Given the description of an element on the screen output the (x, y) to click on. 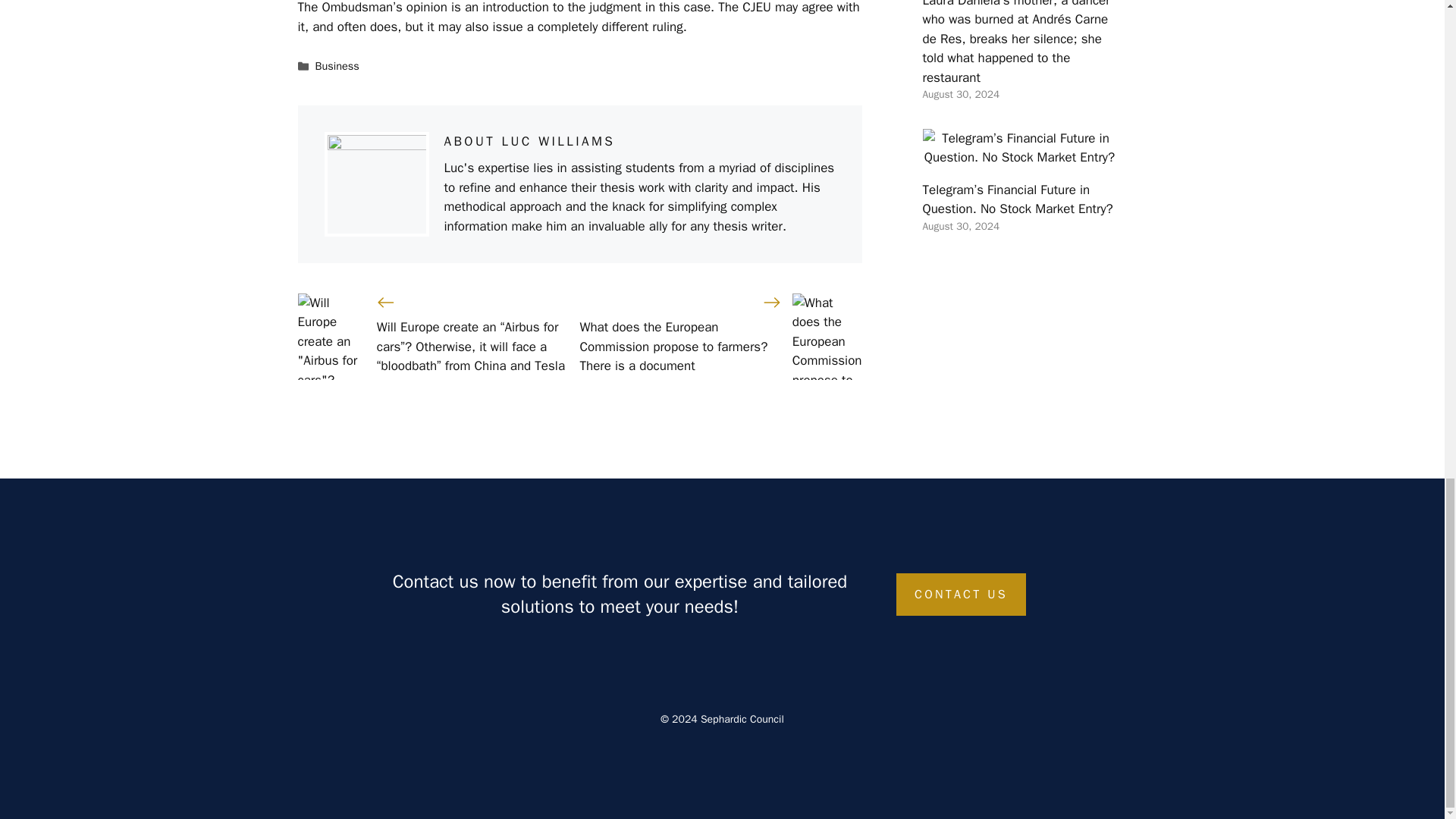
7:39 pm (959, 93)
August 30, 2024 (959, 226)
Business (337, 65)
August 30, 2024 (959, 93)
2:39 pm (959, 226)
CONTACT US (961, 594)
